Given the description of an element on the screen output the (x, y) to click on. 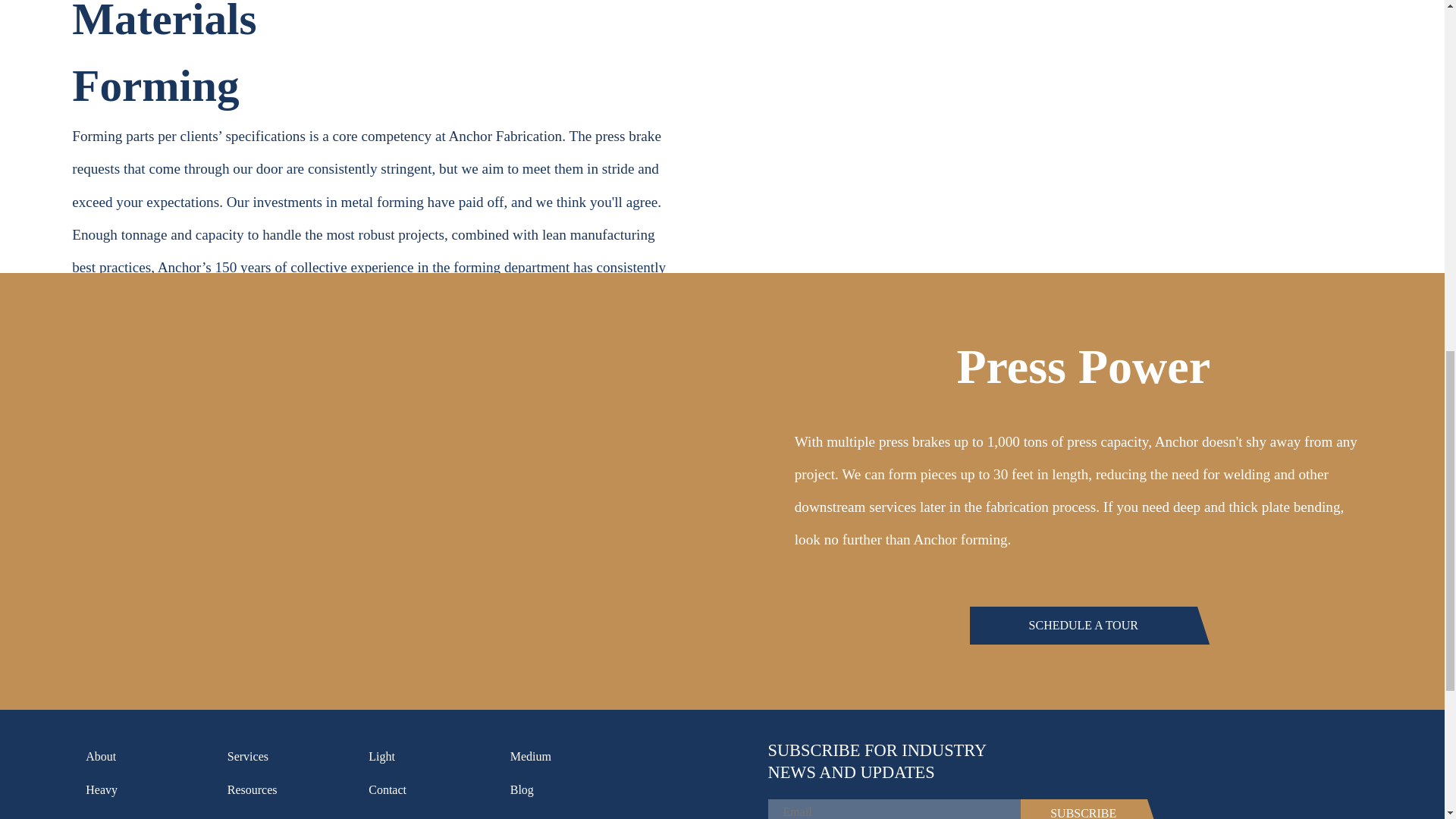
About (148, 756)
Light (431, 756)
SCHEDULE A TOUR (1082, 625)
Medium (574, 756)
REQUEST A CONSULTATION (375, 365)
Heavy (148, 790)
Services (290, 756)
